Given the description of an element on the screen output the (x, y) to click on. 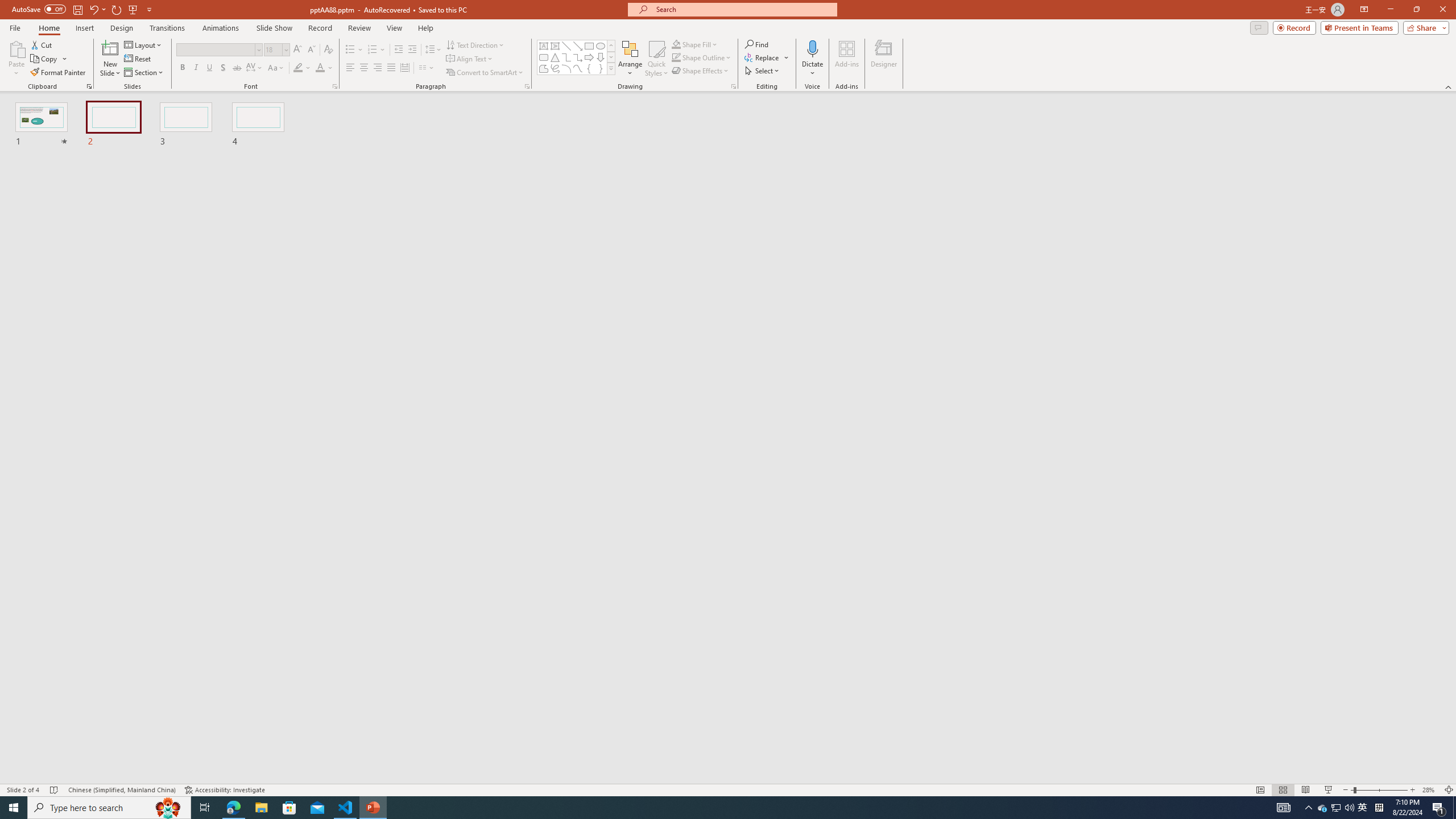
Font... (334, 85)
Increase Indent (412, 49)
Justify (390, 67)
Line Spacing (433, 49)
Right Brace (600, 68)
Layout (143, 44)
